Given the description of an element on the screen output the (x, y) to click on. 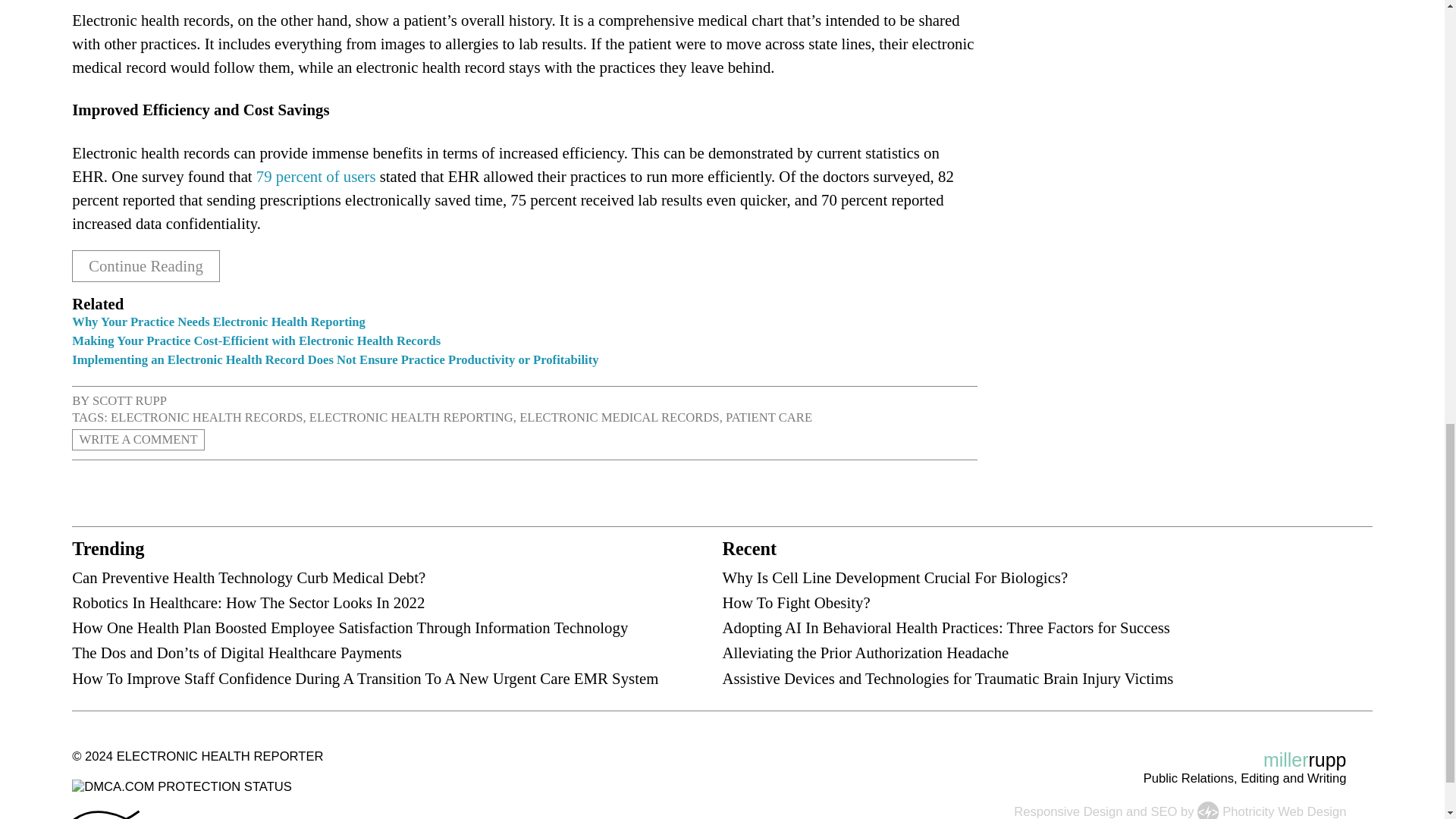
How To Fight Obesity? (795, 601)
DMCA.com Protection Status (181, 786)
ELECTRONIC MEDICAL RECORDS (619, 417)
Why Your Practice Needs Electronic Health Reporting (218, 321)
WRITE A COMMENT (138, 439)
Robotics In Healthcare: How The Sector Looks In 2022 (248, 601)
PATIENT CARE (768, 417)
